Given the description of an element on the screen output the (x, y) to click on. 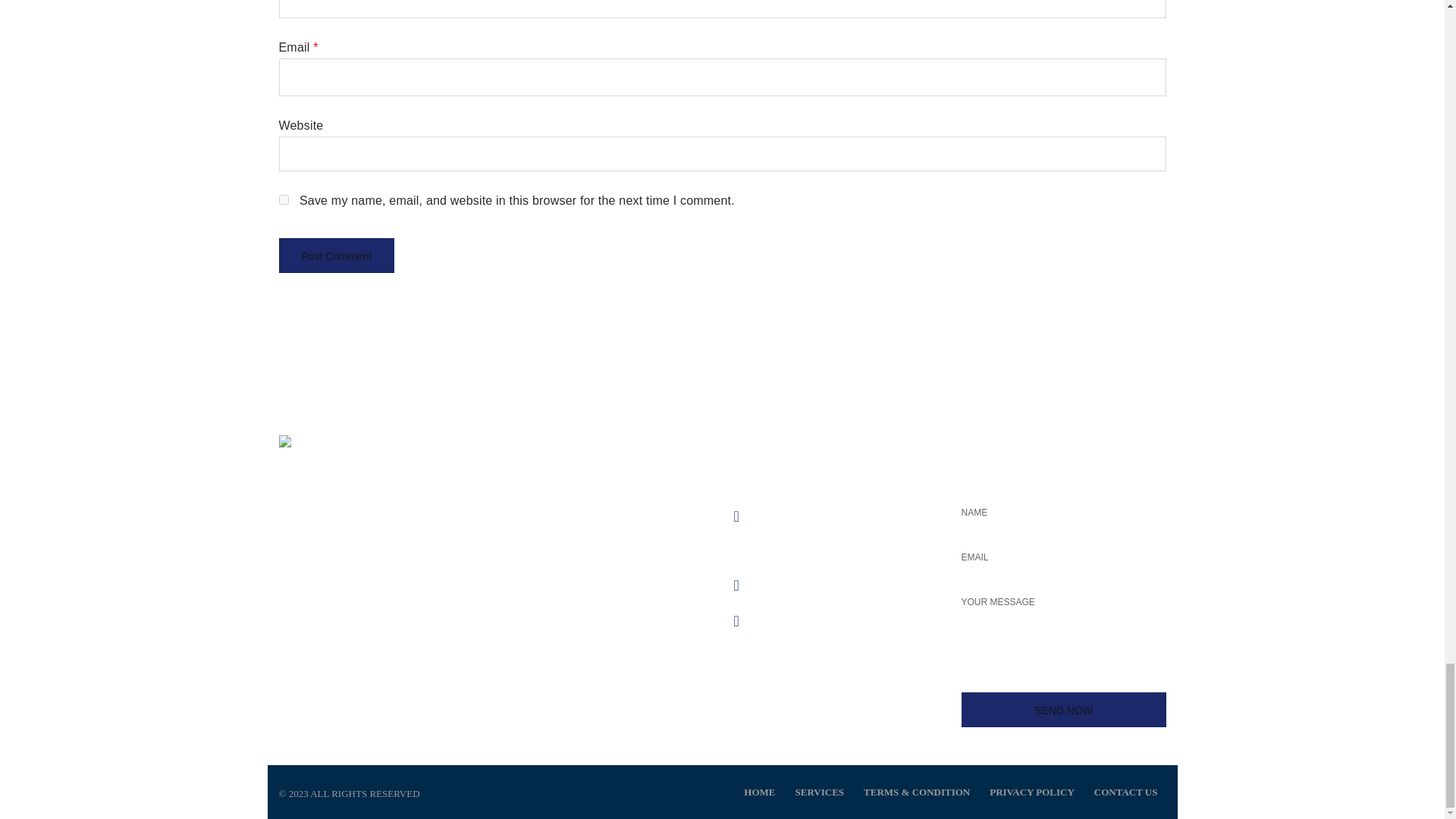
Hicad logo (317, 472)
HiCAD Africa Ltd (370, 669)
SEND NOW (1063, 709)
yes (283, 199)
Post Comment (336, 255)
